Given the description of an element on the screen output the (x, y) to click on. 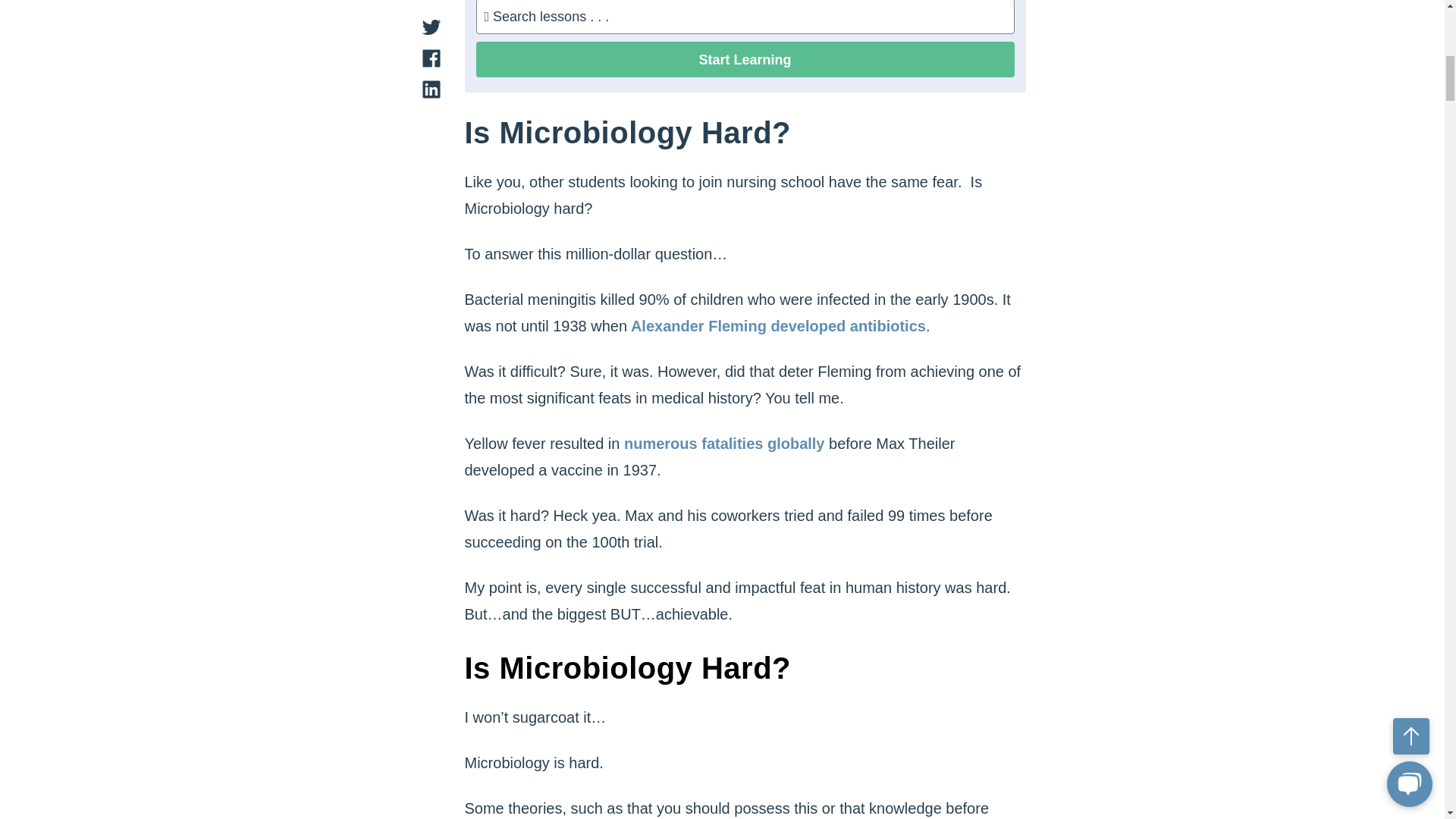
numerous fatalities globally (722, 443)
Start Learning (745, 58)
Alexander Fleming developed antibiotics (776, 325)
Start Learning (745, 58)
Start Learning (745, 58)
